Given the description of an element on the screen output the (x, y) to click on. 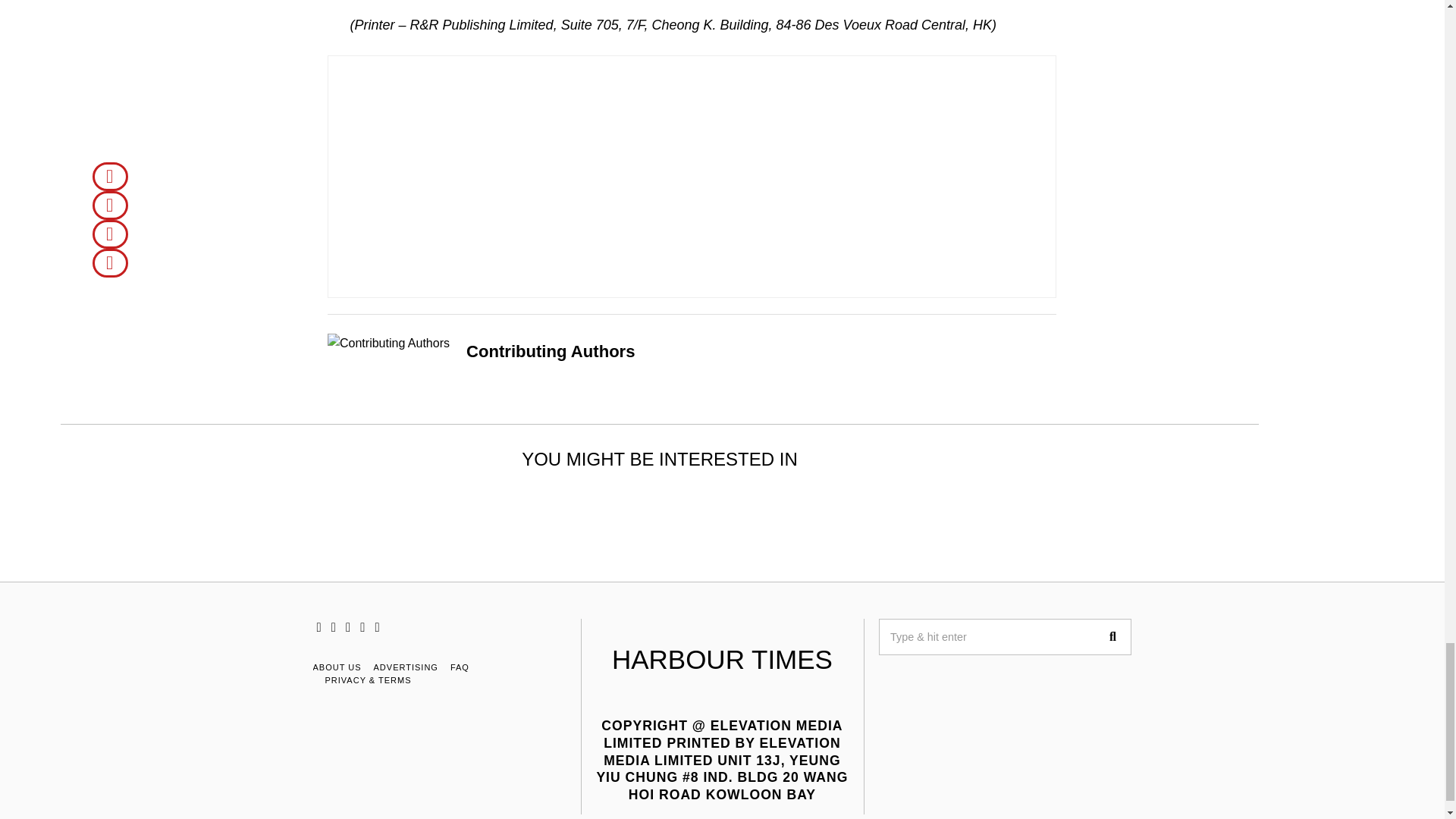
Go (1112, 637)
ABOUT US (337, 667)
ADVERTISING (406, 667)
FAQ (458, 667)
